Given the description of an element on the screen output the (x, y) to click on. 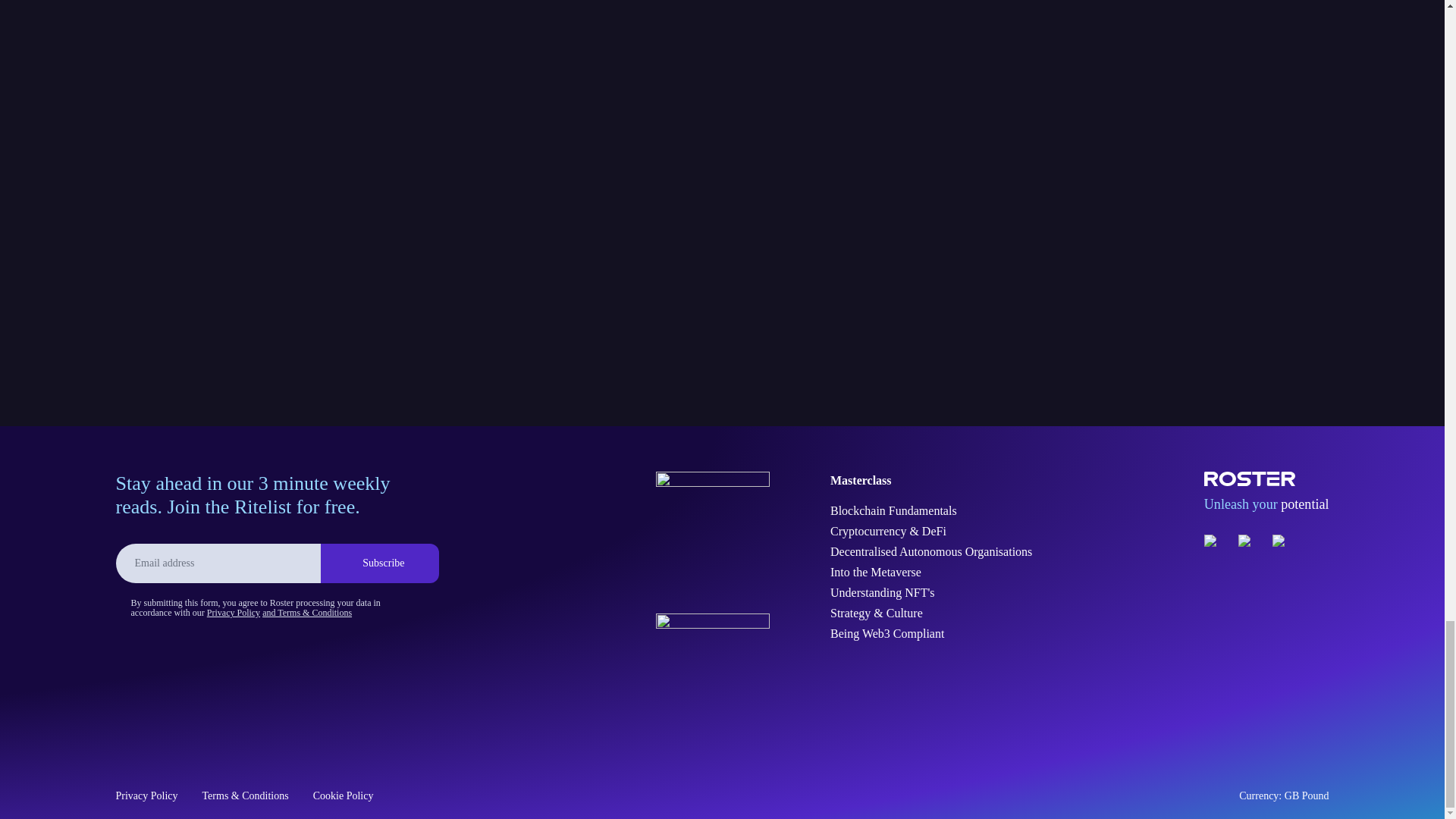
Blockchain Fundamentals (930, 511)
Decentralised Autonomous Organisations (930, 551)
Into the Metaverse (930, 572)
Understanding NFT's (930, 592)
Subscribe (379, 563)
Masterclass (930, 480)
Being Web3 Compliant (930, 633)
Subscribe (379, 563)
Privacy Policy (233, 612)
